Given the description of an element on the screen output the (x, y) to click on. 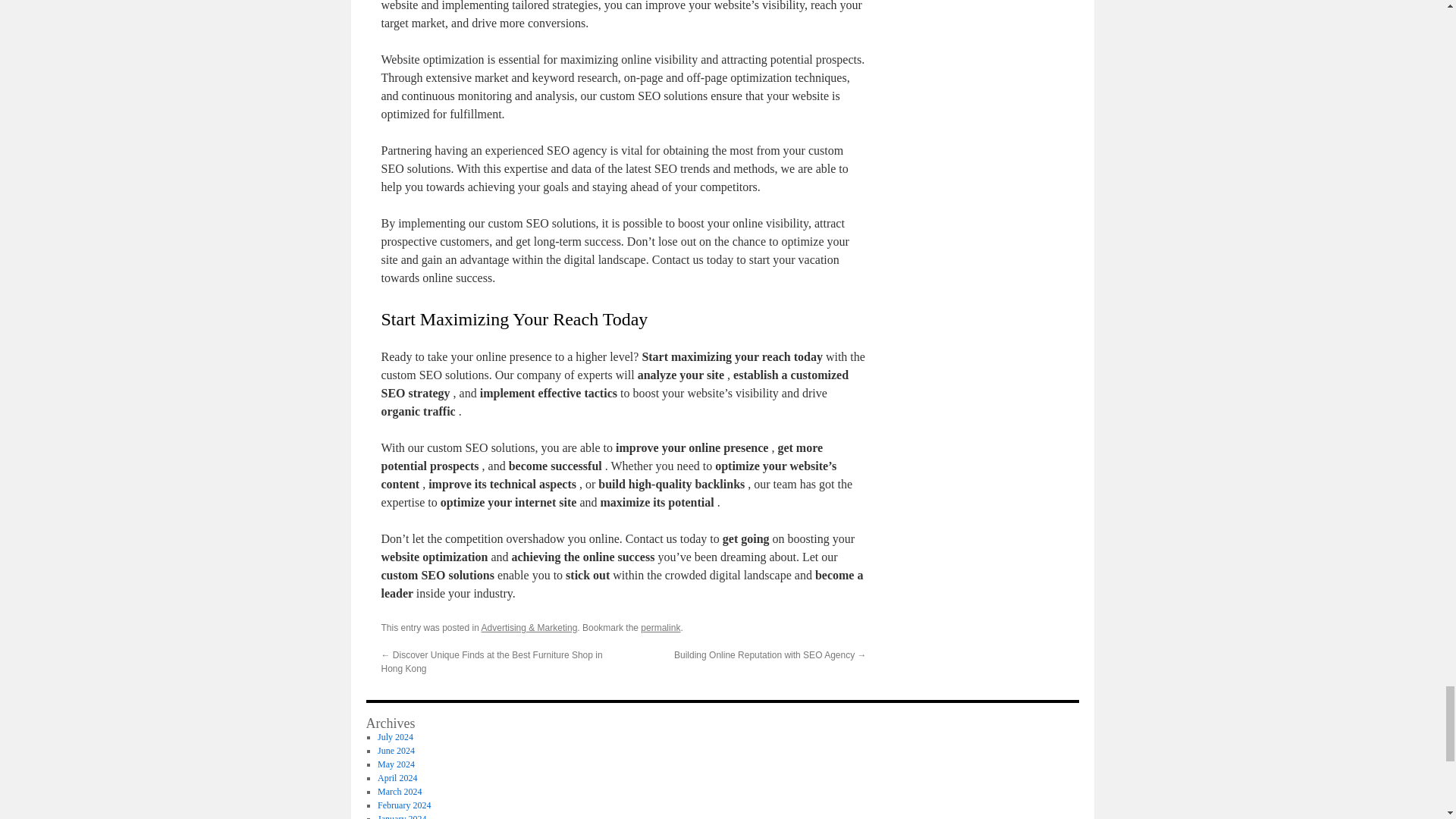
February 2024 (403, 805)
March 2024 (399, 791)
Permalink to Keyword Research Mastery by SEO Agency (659, 627)
January 2024 (401, 816)
April 2024 (396, 777)
July 2024 (395, 737)
permalink (659, 627)
June 2024 (395, 750)
May 2024 (395, 764)
